Given the description of an element on the screen output the (x, y) to click on. 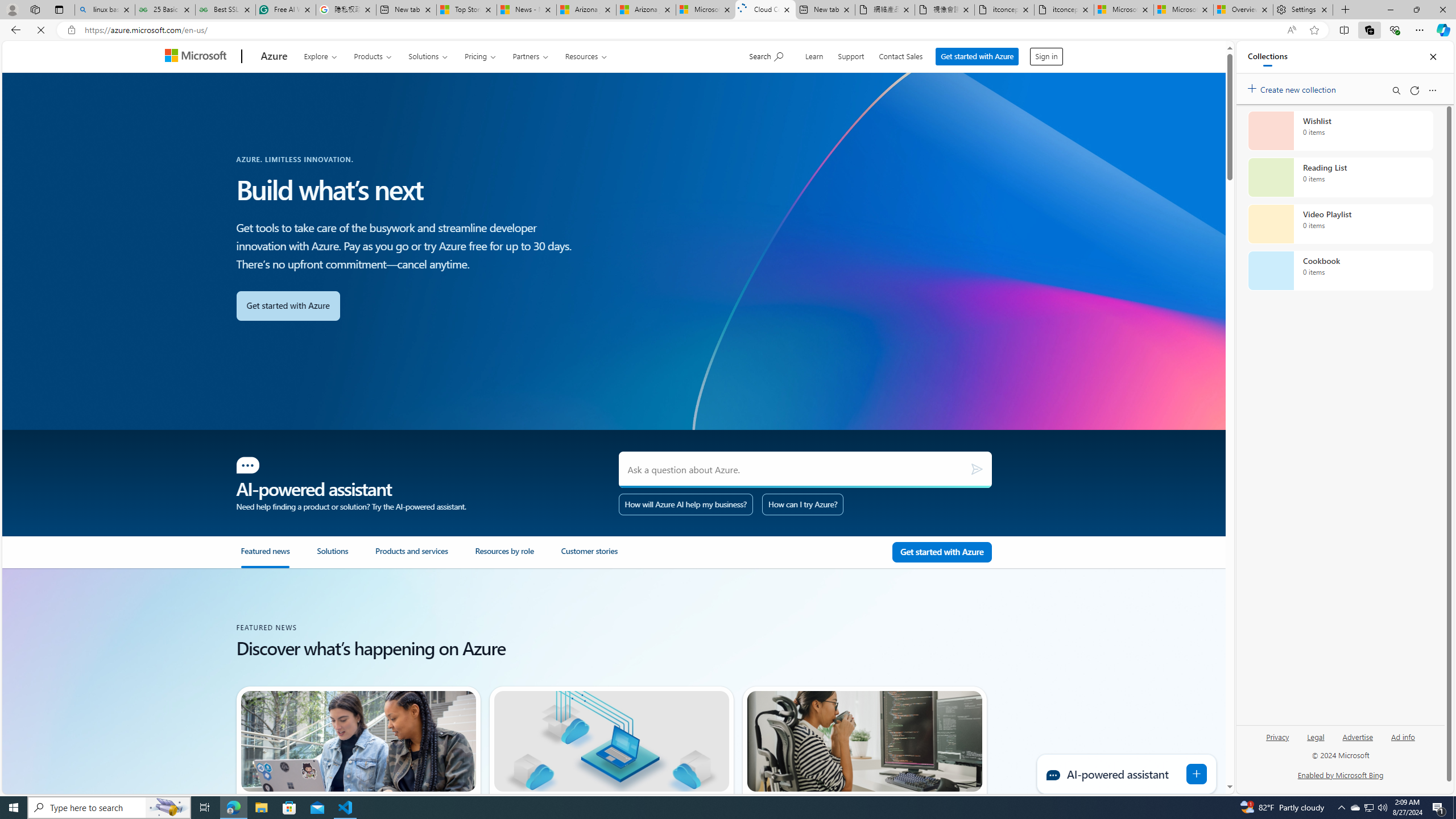
Get started with Pay as you go using Azure (941, 552)
25 Basic Linux Commands For Beginners - GeeksforGeeks (164, 9)
Support (852, 54)
